Given the description of an element on the screen output the (x, y) to click on. 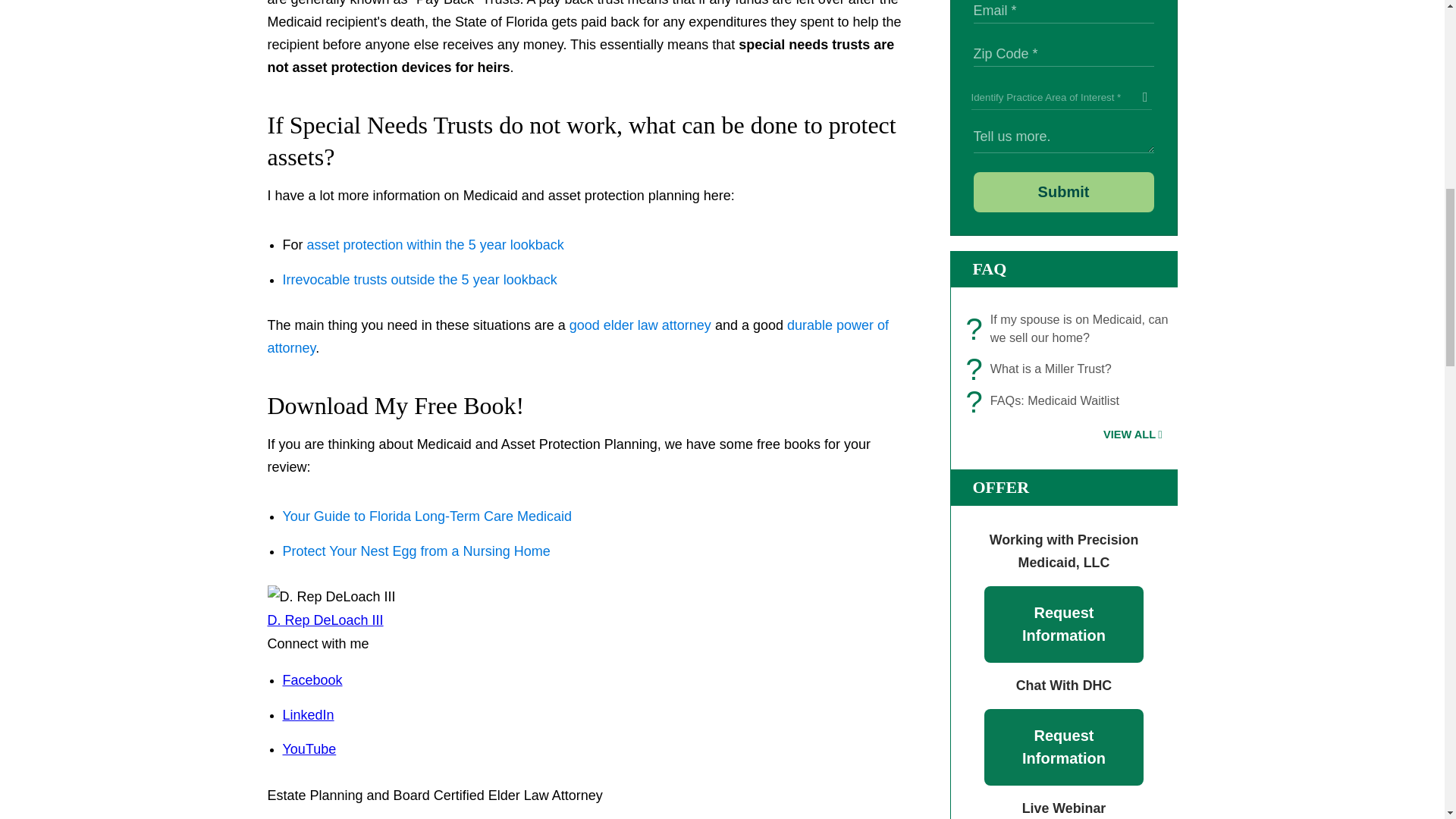
Watch me on YouTube (309, 749)
Find me on Facebook (312, 679)
Connect with me on LinkedIn (307, 714)
